Given the description of an element on the screen output the (x, y) to click on. 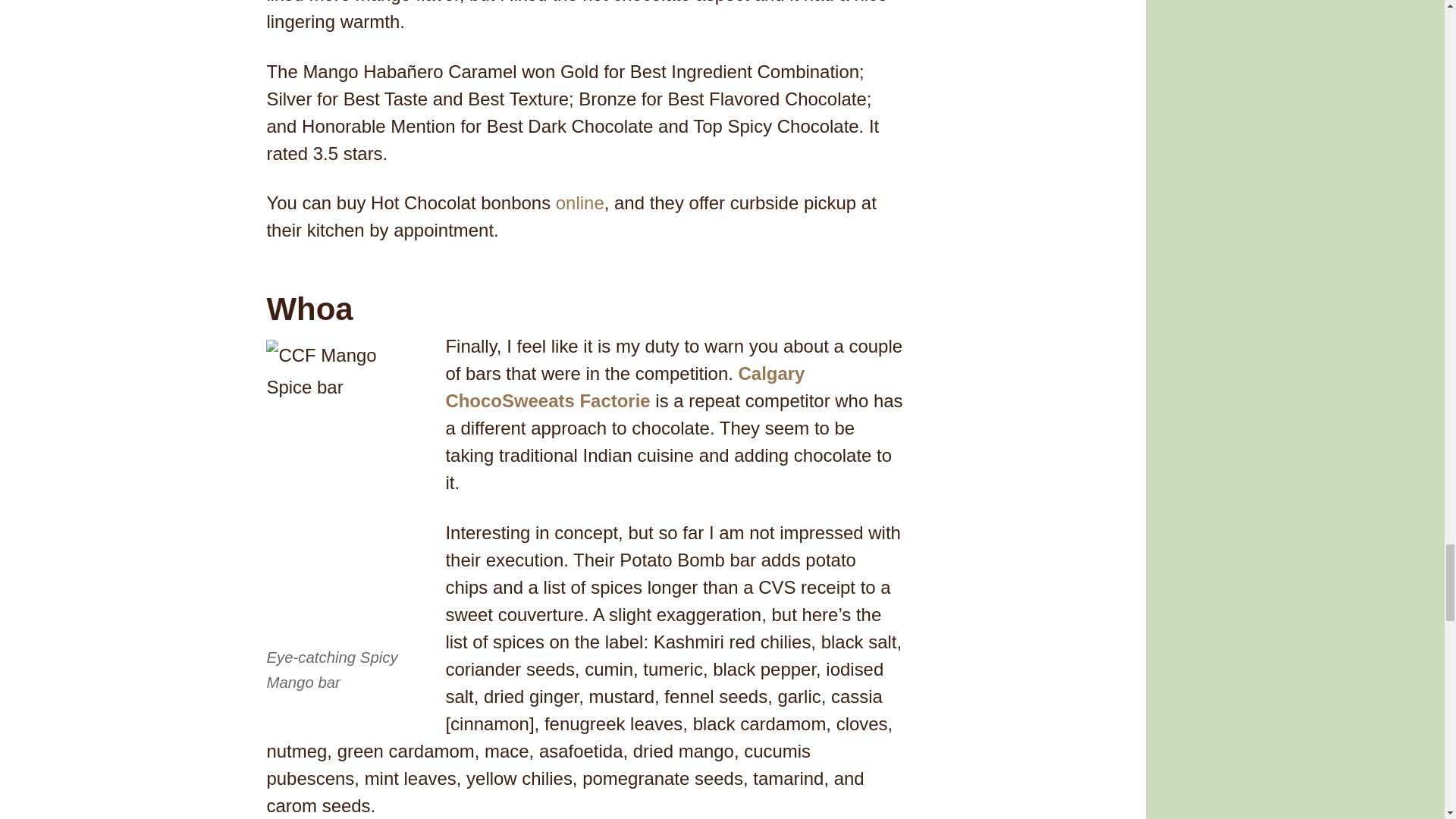
Calgary ChocoSweeats Factorie (625, 387)
online (580, 202)
